Given the description of an element on the screen output the (x, y) to click on. 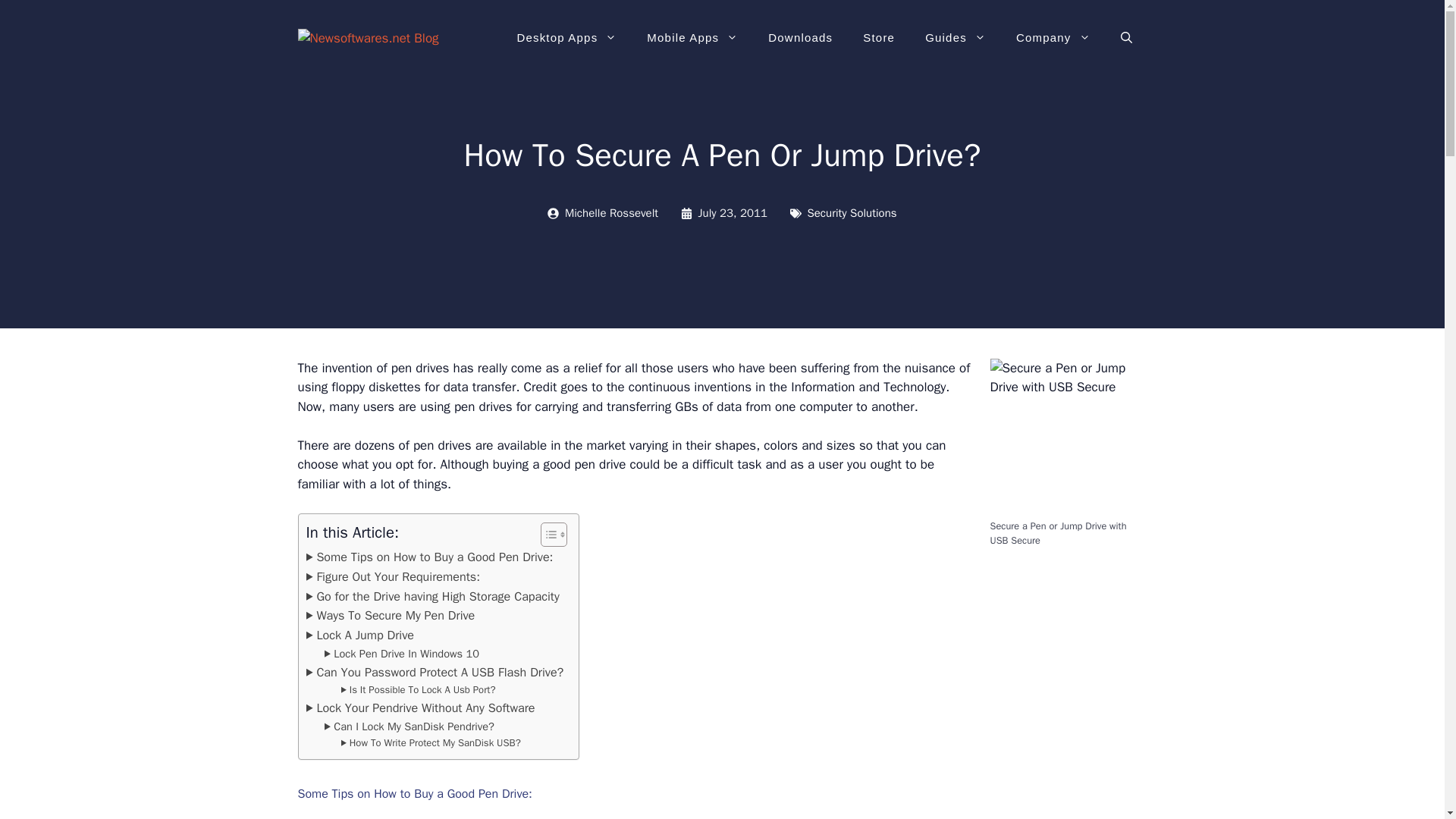
Ways To Secure My Pen Drive (390, 615)
Store (878, 37)
Secure a Pen or Jump Drive with USB Secure (1068, 436)
Mobile Apps (691, 37)
Some Tips on How to Buy a Good Pen Drive: (429, 557)
Downloads (799, 37)
Company (1053, 37)
Lock Your Pendrive Without Any Software (420, 708)
Lock A Jump Drive (359, 635)
Is It Possible To Lock A Usb Port? (418, 690)
